Given the description of an element on the screen output the (x, y) to click on. 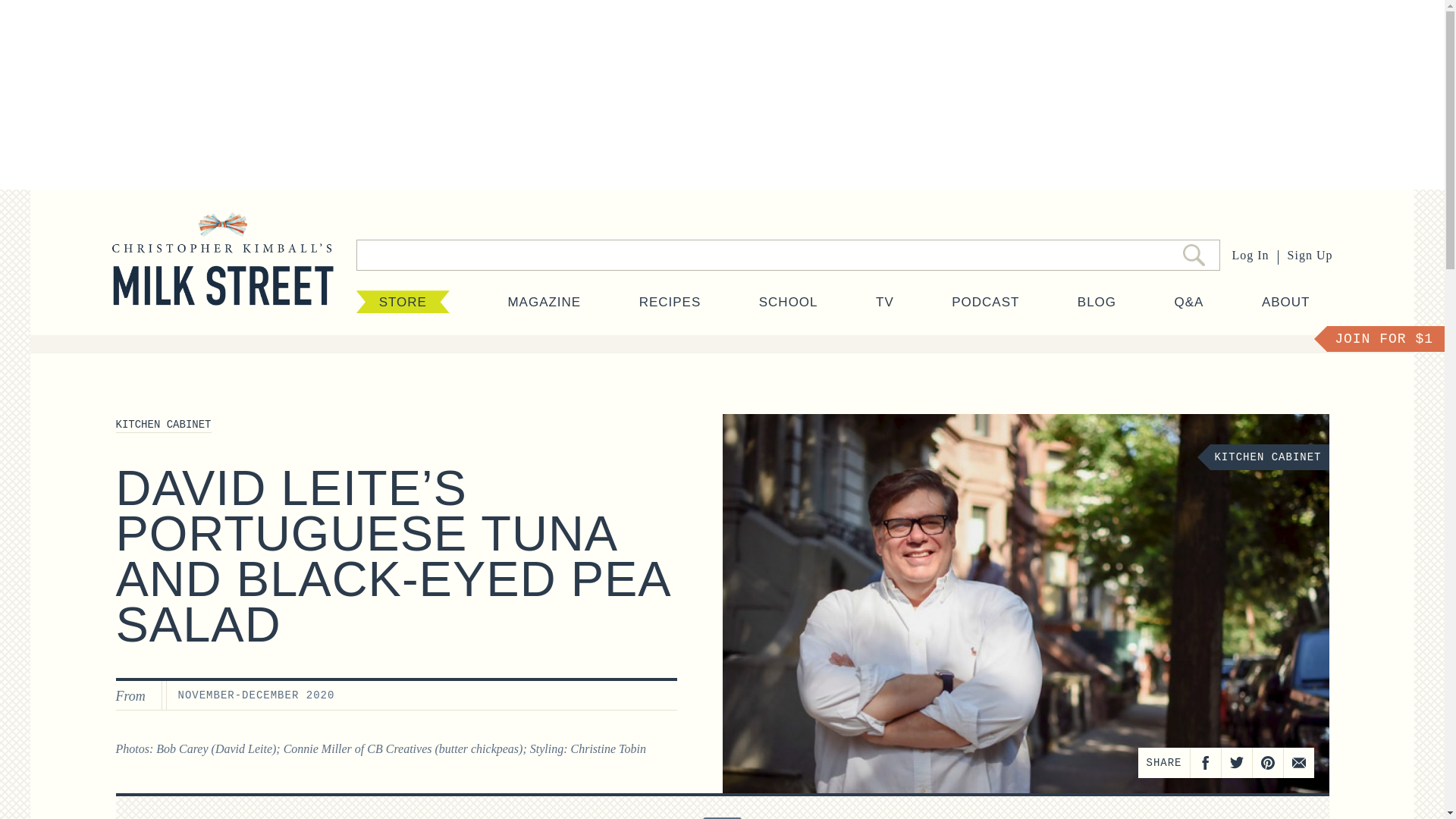
MAGAZINE (543, 301)
Log In (1249, 255)
Christopher Kimball's Milk Street (222, 274)
STORE (402, 301)
Search (1193, 255)
Sign Up (1310, 255)
